Given the description of an element on the screen output the (x, y) to click on. 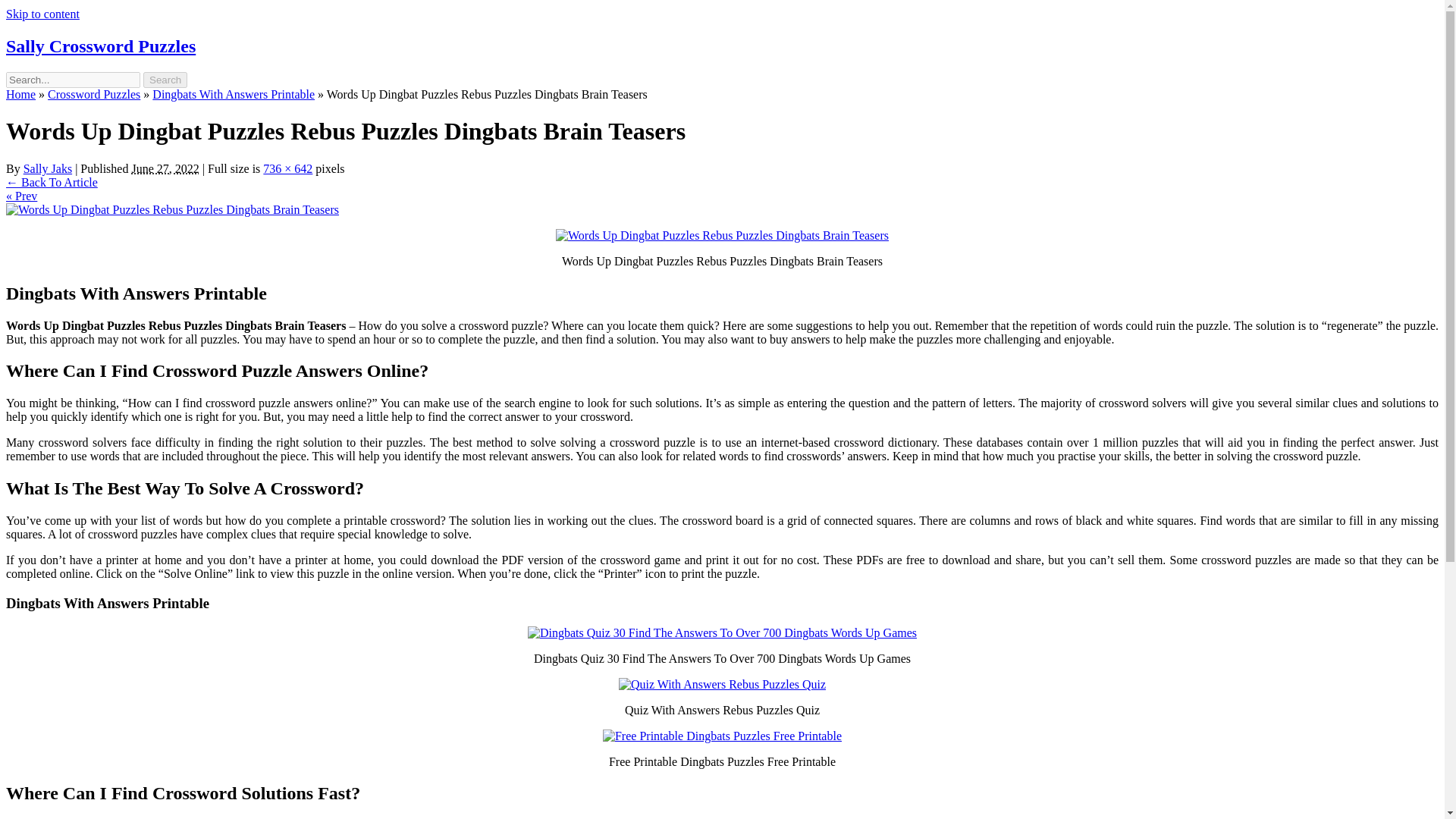
Skip to content (42, 13)
Crossword Puzzles (93, 93)
quiz with answers rebus puzzles quiz (721, 684)
5:32 pm (164, 168)
Search (164, 79)
Search (164, 79)
Sally Crossword Puzzles (100, 46)
Return to Dingbats With Answers Printable (51, 182)
Search for: (72, 79)
